Given the description of an element on the screen output the (x, y) to click on. 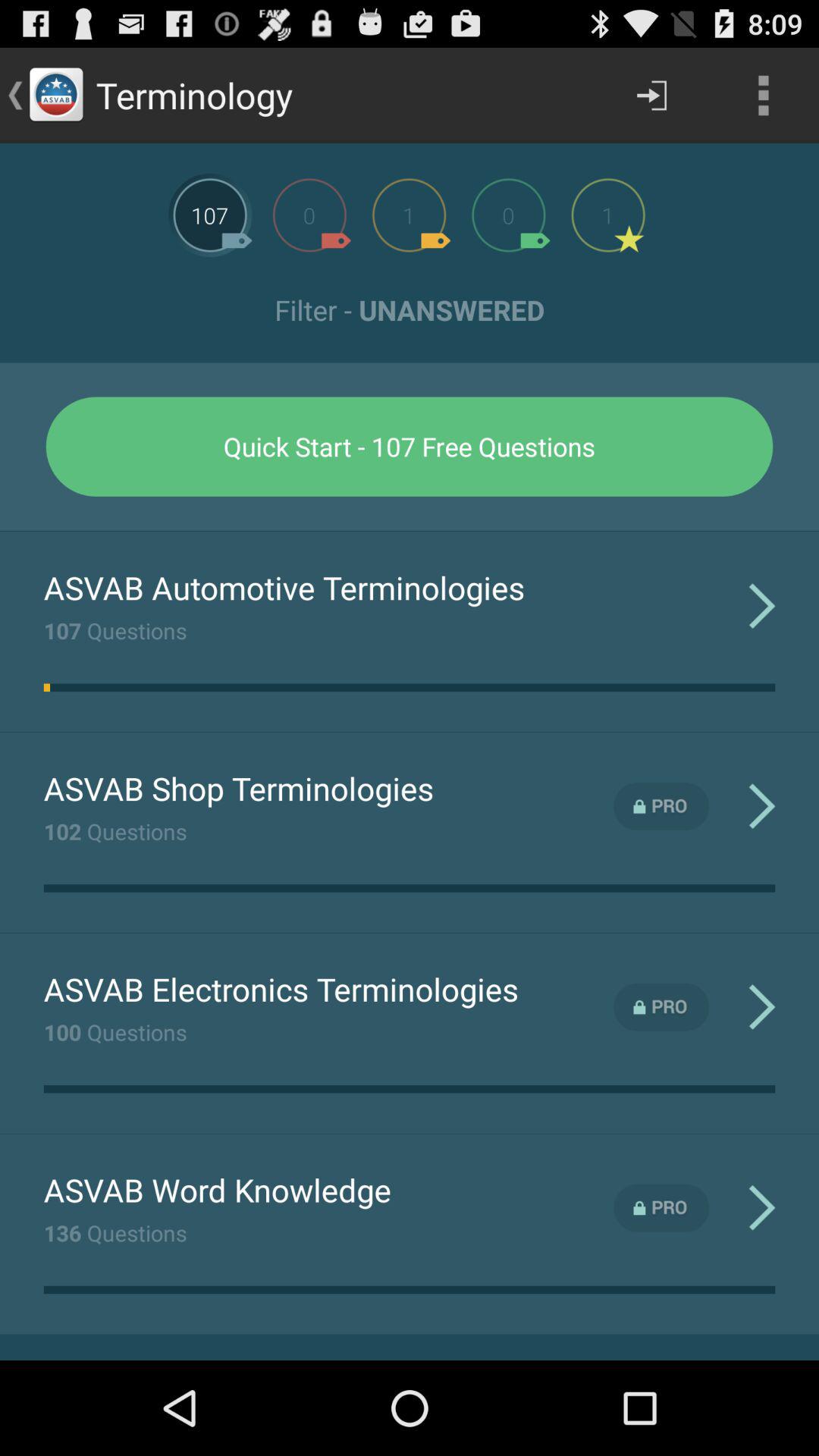
launch icon below quick start 107 icon (409, 530)
